Given the description of an element on the screen output the (x, y) to click on. 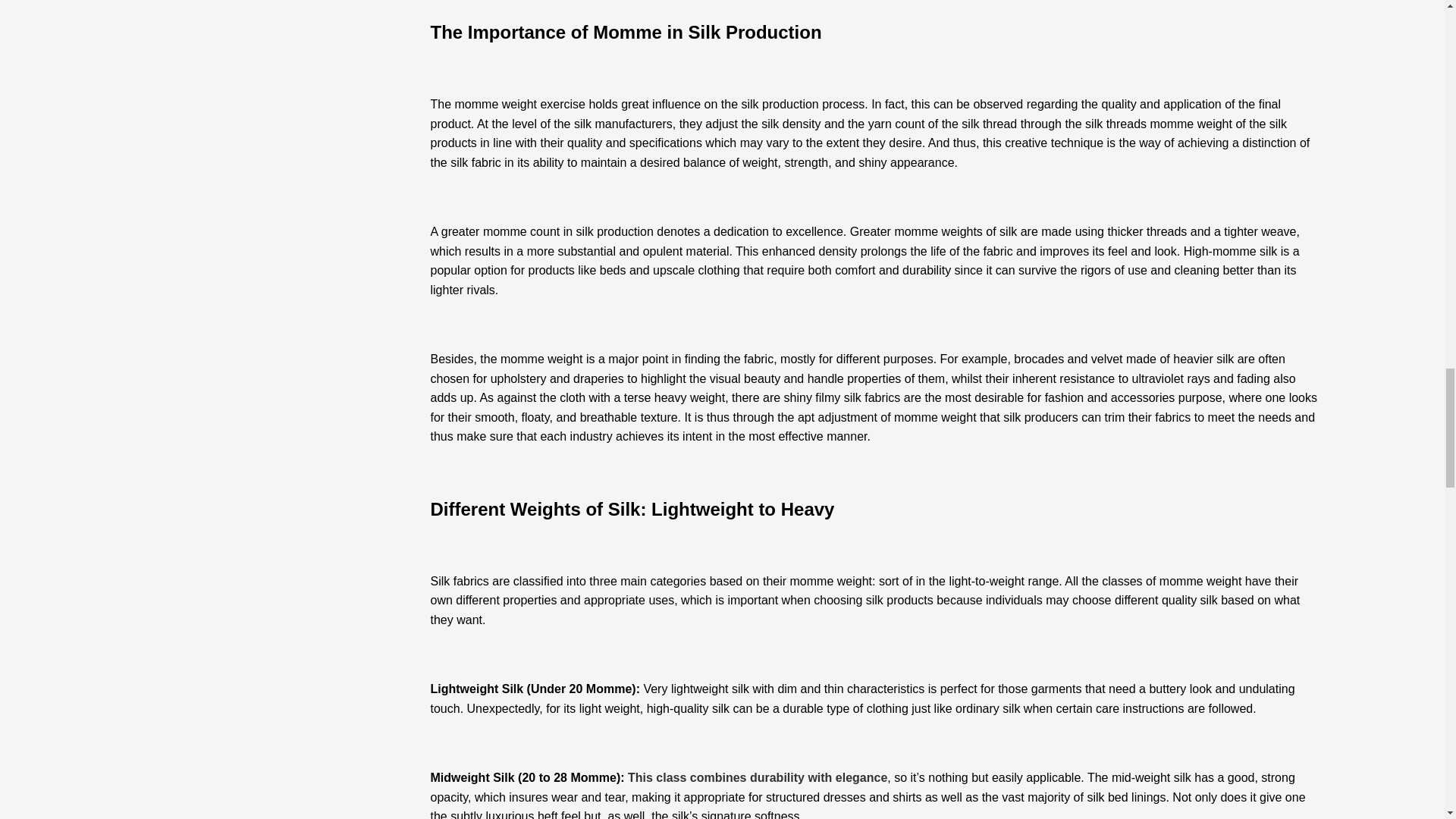
This class combines durability with elegance (756, 777)
